Given the description of an element on the screen output the (x, y) to click on. 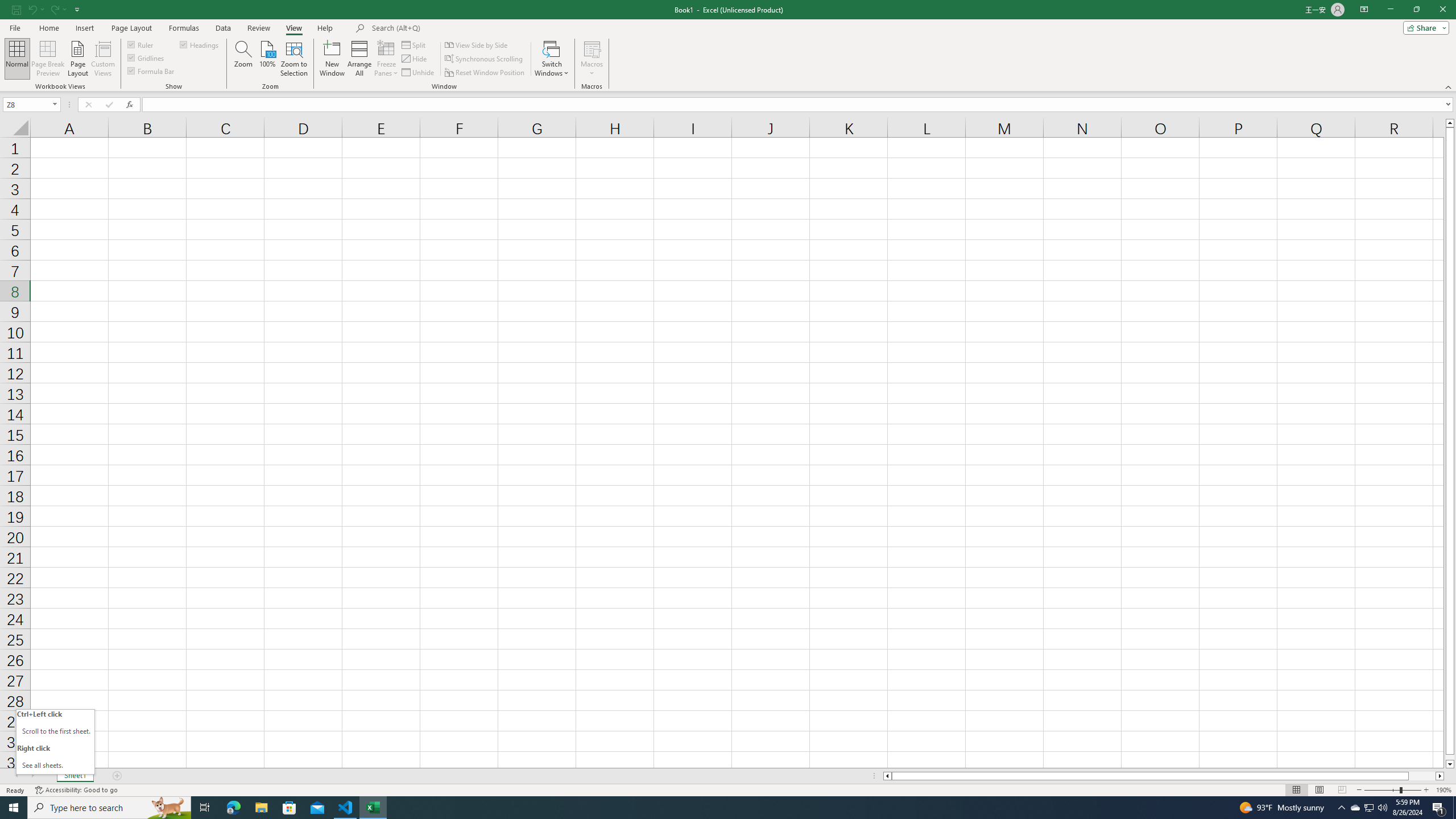
Switch Windows (551, 58)
Zoom (1392, 790)
Headings (199, 44)
Ruler (141, 44)
Class: NetUIScrollBar (1163, 775)
Scroll Left (16, 775)
View Macros (591, 48)
Review (258, 28)
Formula Bar (798, 104)
